Given the description of an element on the screen output the (x, y) to click on. 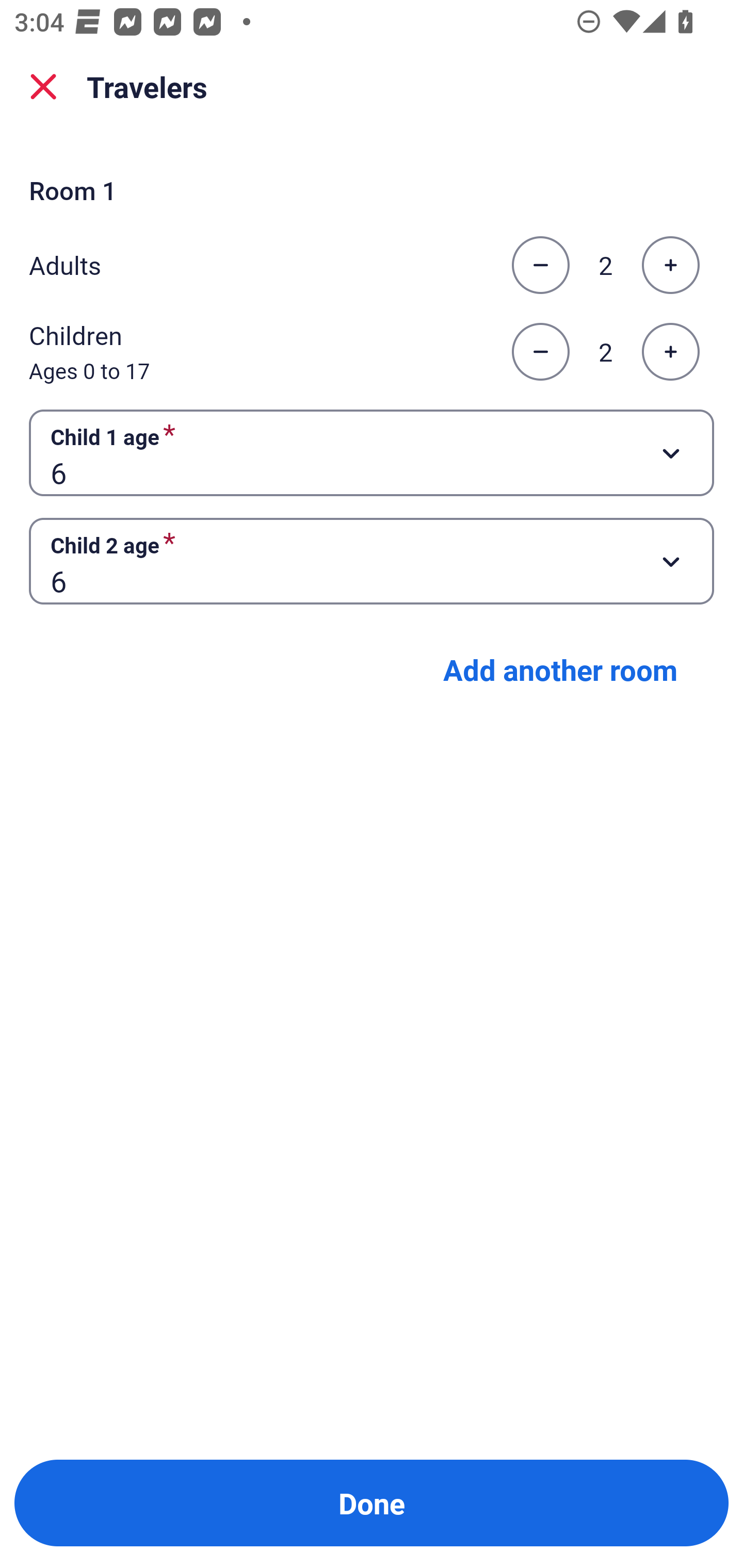
close (43, 86)
Decrease the number of adults (540, 264)
Increase the number of adults (670, 264)
Decrease the number of children (540, 351)
Increase the number of children (670, 351)
Child 1 age required Button 6 (371, 452)
Child 2 age required Button 6 (371, 561)
Add another room (560, 669)
Done (371, 1502)
